Given the description of an element on the screen output the (x, y) to click on. 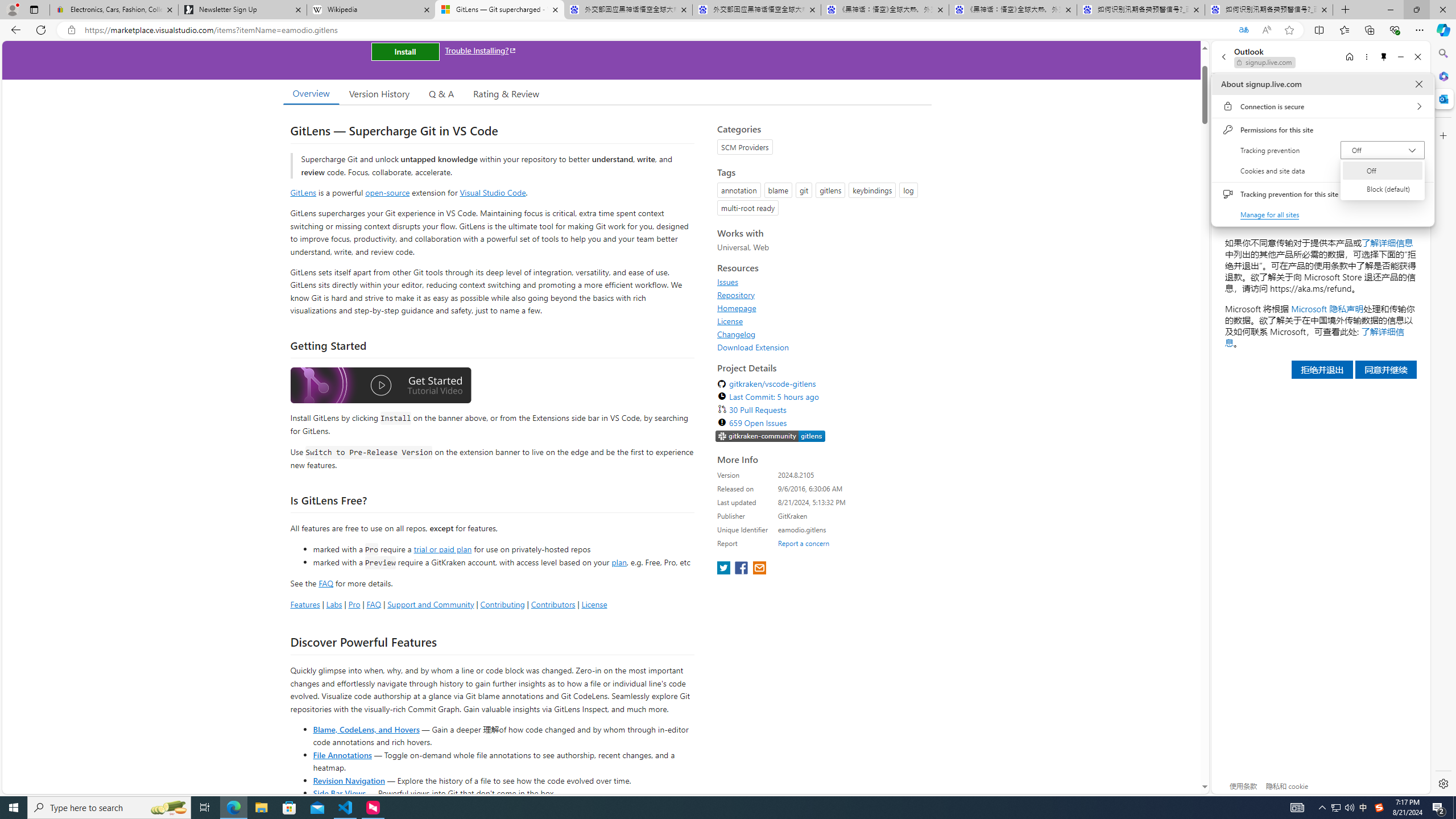
Search highlights icon opens search home window (167, 807)
Action Center, 2 new notifications (1439, 807)
About signup.live.com (1418, 83)
Microsoft Store (289, 807)
Notification Chevron (1322, 807)
Off (1382, 170)
Manage for all sites (1270, 214)
Tray Input Indicator - Chinese (Simplified, China) (1378, 807)
Microsoft Edge - 1 running window (233, 807)
Type here to search (108, 807)
AutomationID: 4105 (1297, 807)
Cookies and site data (1322, 170)
